Given the description of an element on the screen output the (x, y) to click on. 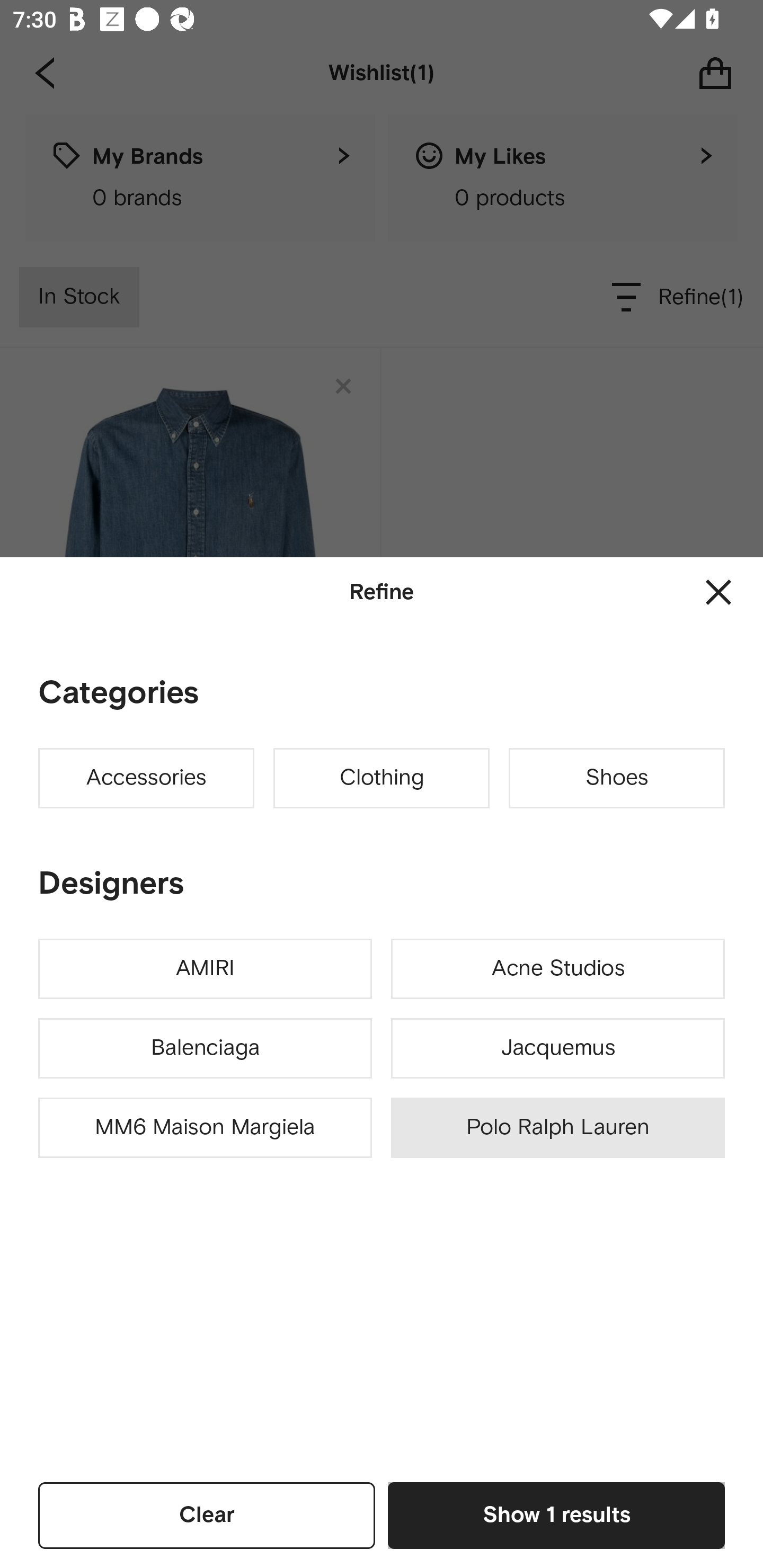
Accessories (146, 778)
Clothing (381, 778)
Shoes (616, 778)
AMIRI (205, 968)
Acne Studios (557, 968)
Balenciaga (205, 1047)
Jacquemus (557, 1047)
MM6 Maison Margiela (205, 1127)
Polo Ralph Lauren (557, 1127)
Clear (206, 1515)
Show 1 results (555, 1515)
